Given the description of an element on the screen output the (x, y) to click on. 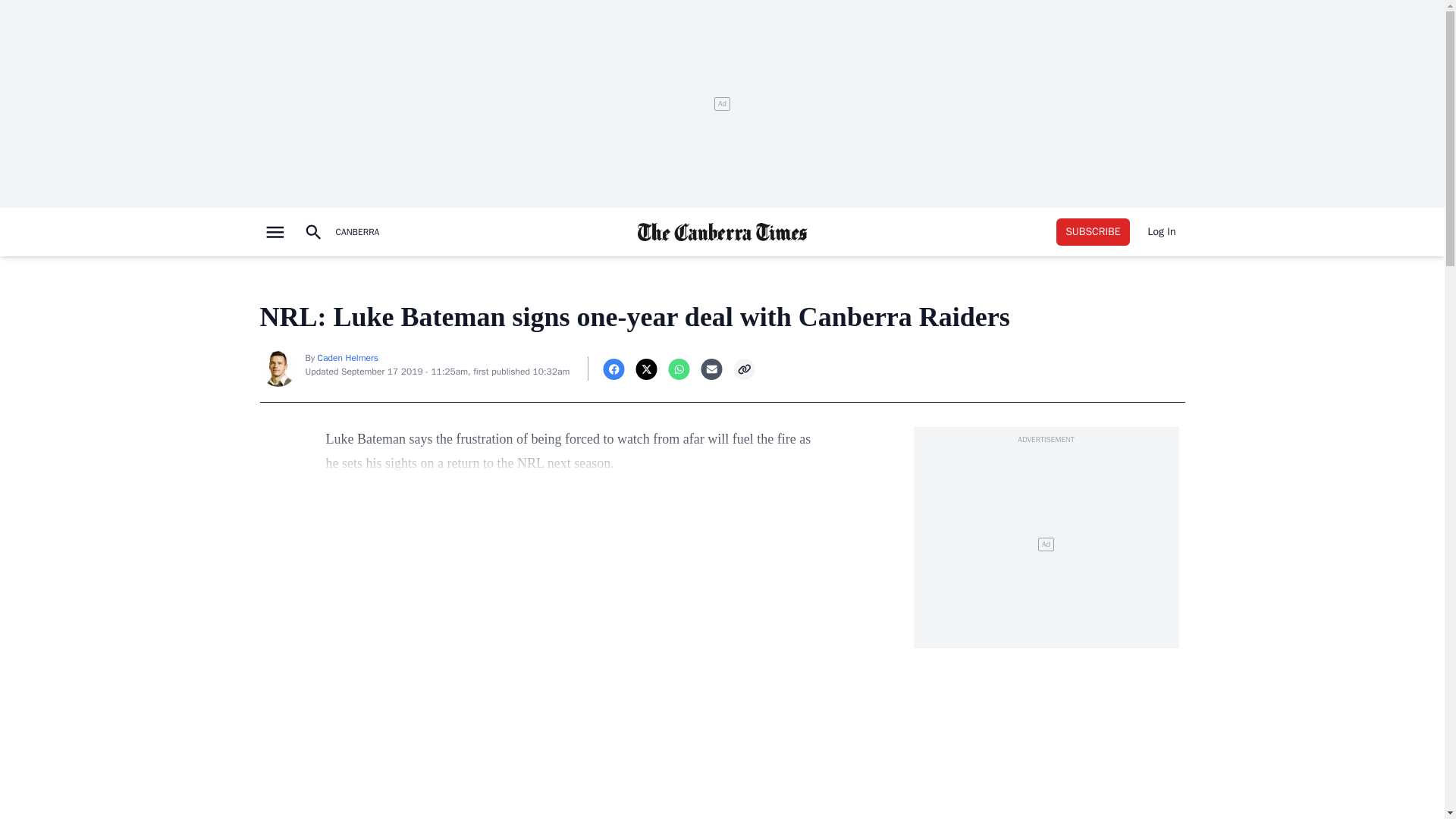
CANBERRA (357, 232)
SUBSCRIBE (1093, 231)
Log In (1161, 231)
